Given the description of an element on the screen output the (x, y) to click on. 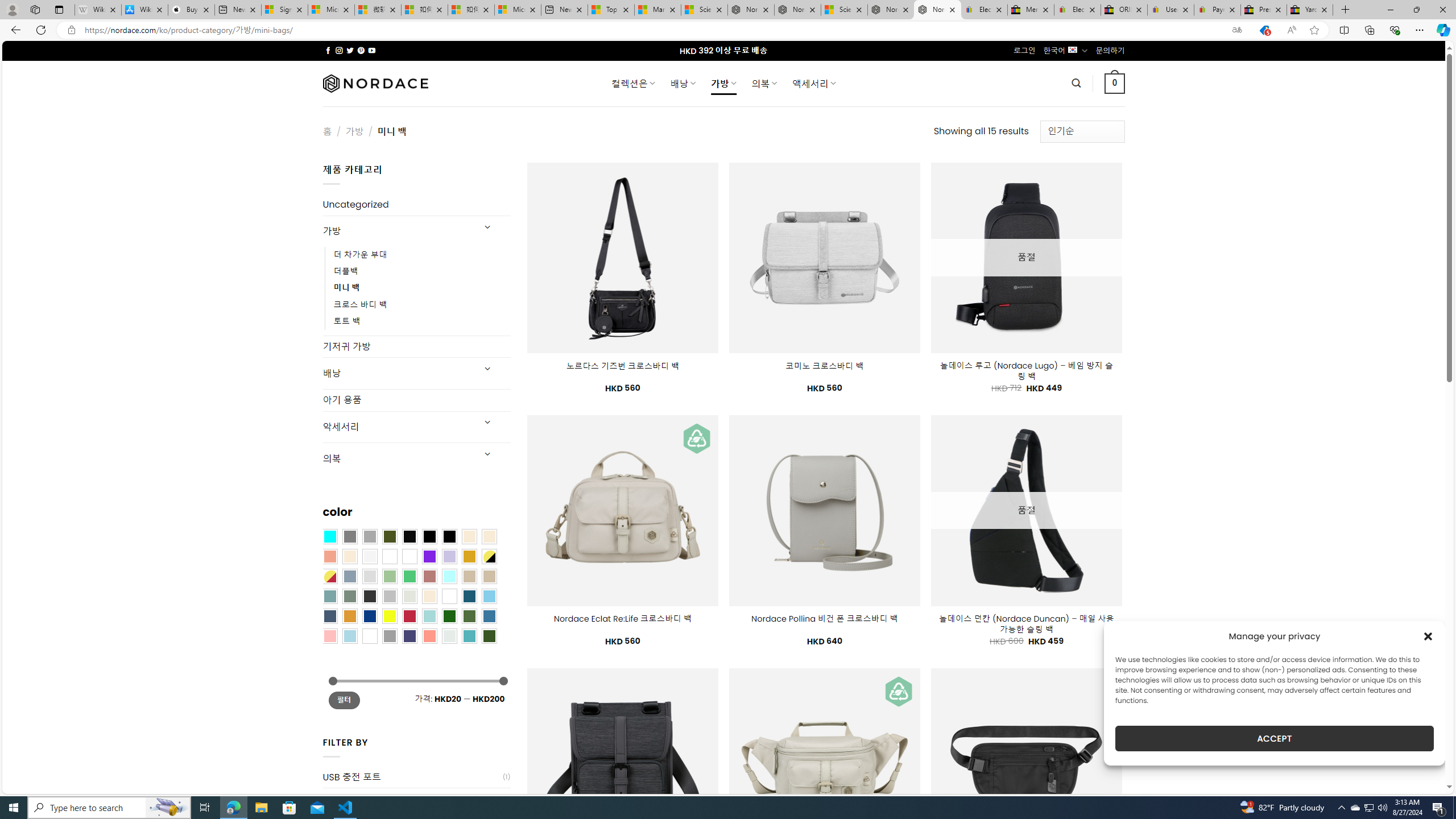
Dull Nickle (449, 635)
Follow on Instagram (338, 50)
ACCEPT (1274, 738)
Follow on Pinterest (360, 50)
